Given the description of an element on the screen output the (x, y) to click on. 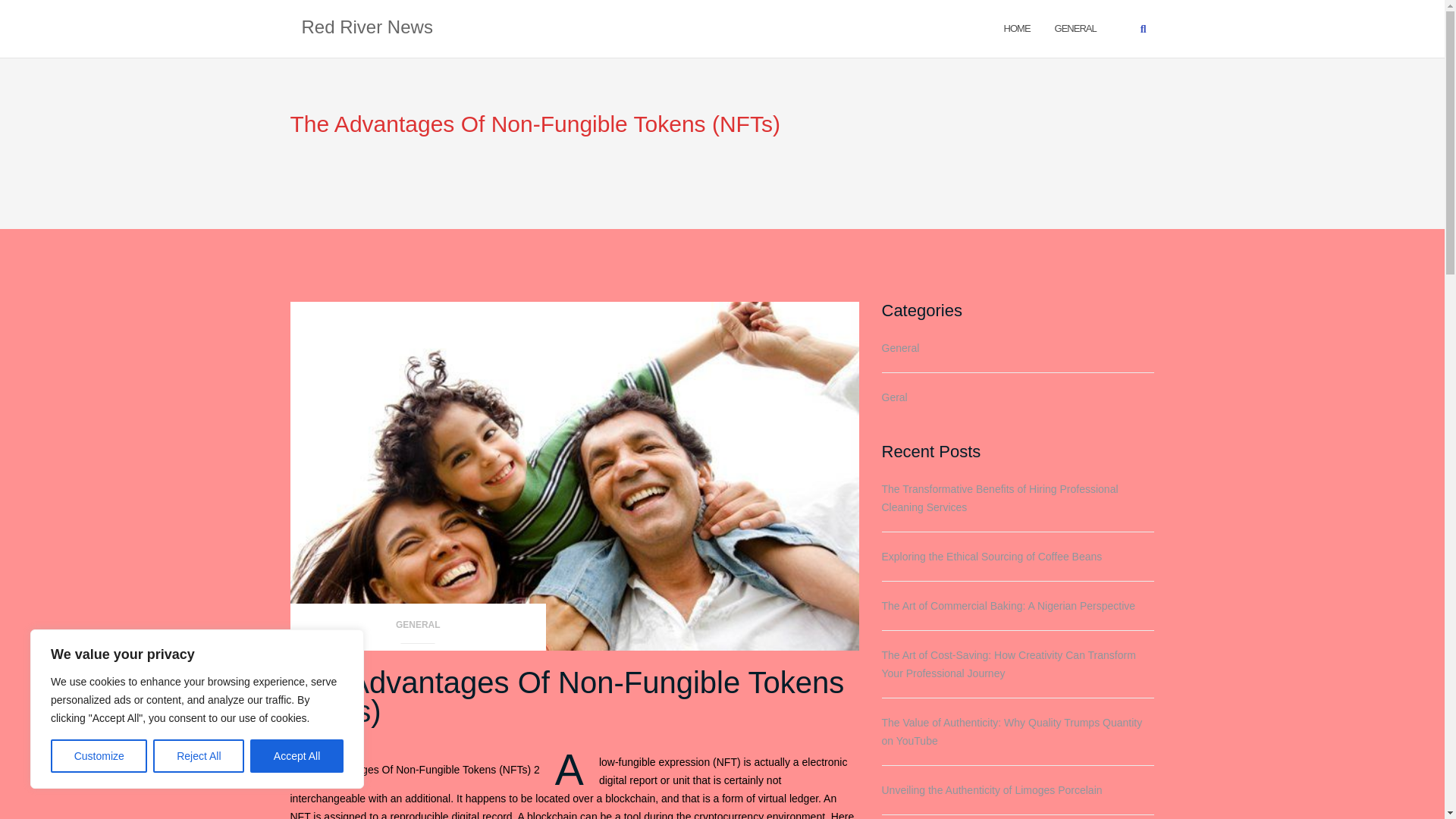
Customize (98, 756)
Red River News (366, 28)
GENERAL (417, 629)
Reject All (198, 756)
Accept All (296, 756)
GENERAL (1075, 28)
General (1075, 28)
